Given the description of an element on the screen output the (x, y) to click on. 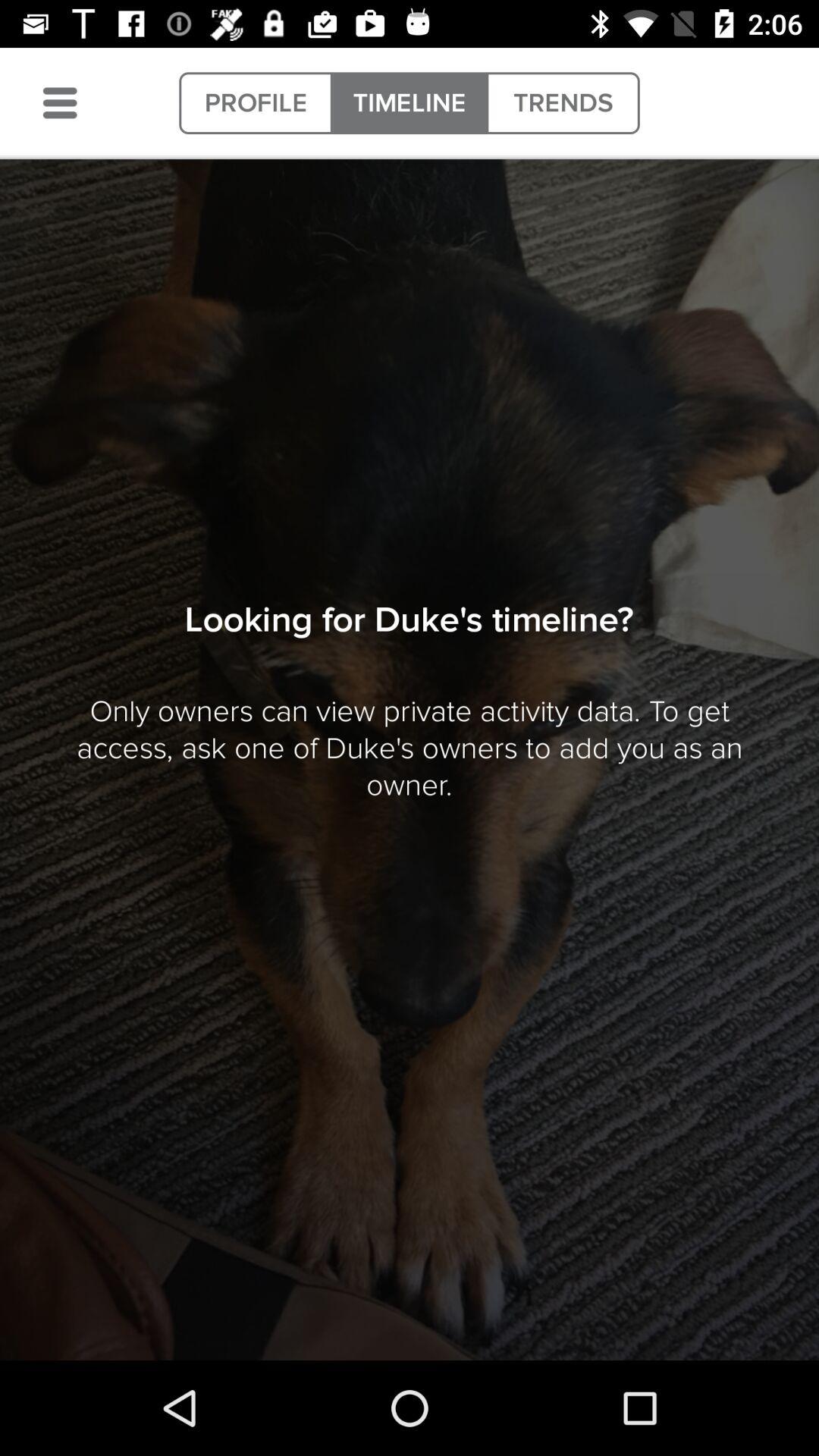
more option (60, 103)
